Given the description of an element on the screen output the (x, y) to click on. 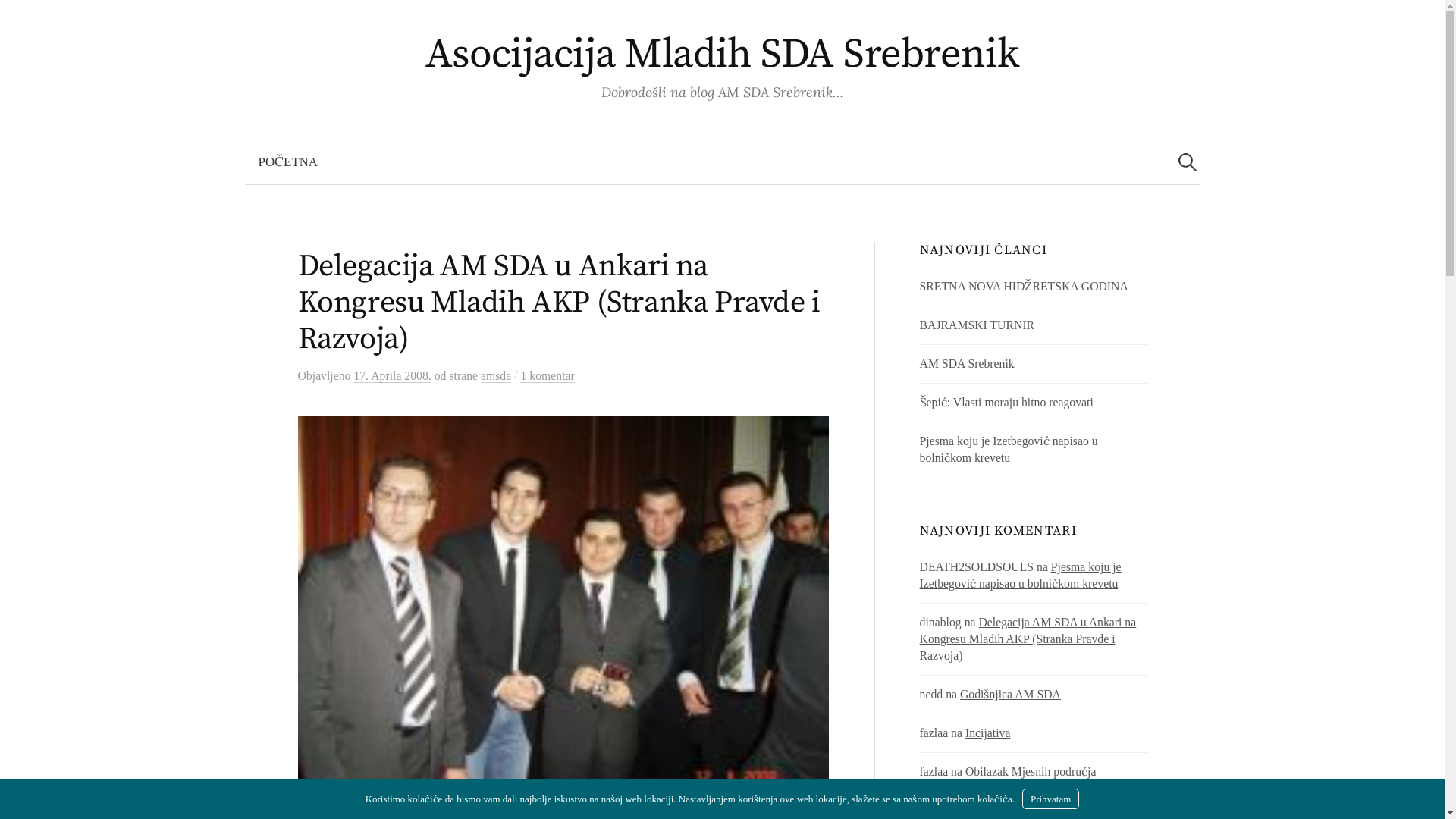
Incijativa Element type: text (987, 732)
BAJRAMSKI TURNIR Element type: text (977, 324)
AM SDA Srebrenik Element type: text (966, 363)
Prihvatam Element type: text (1050, 798)
17. Aprila 2008. Element type: text (391, 375)
amsda Element type: text (495, 375)
Asocijacija Mladih SDA Srebrenik Element type: text (722, 54)
Pretraga Element type: text (18, 18)
